Given the description of an element on the screen output the (x, y) to click on. 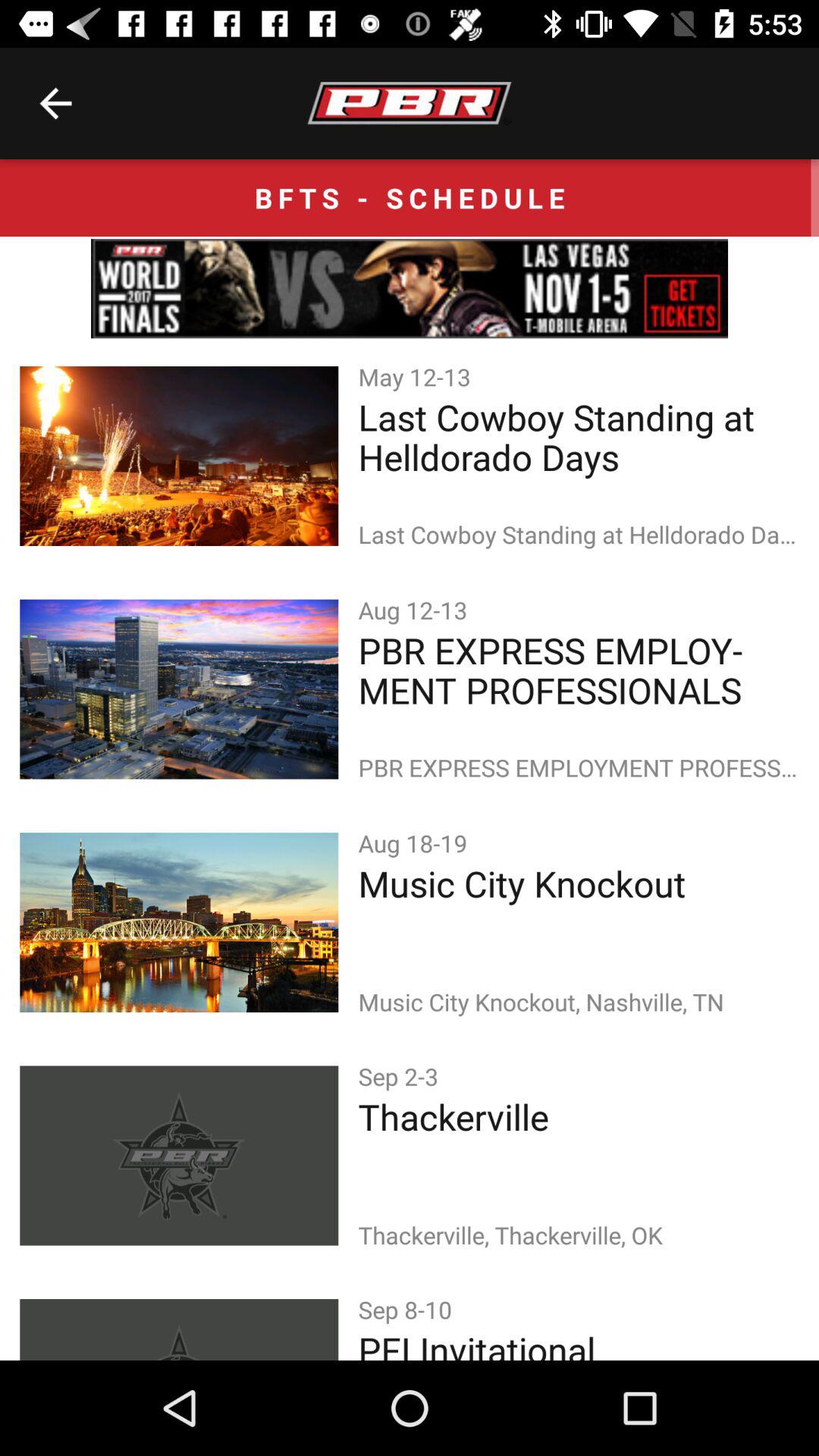
launch the sep 2-3 item (401, 1076)
